Given the description of an element on the screen output the (x, y) to click on. 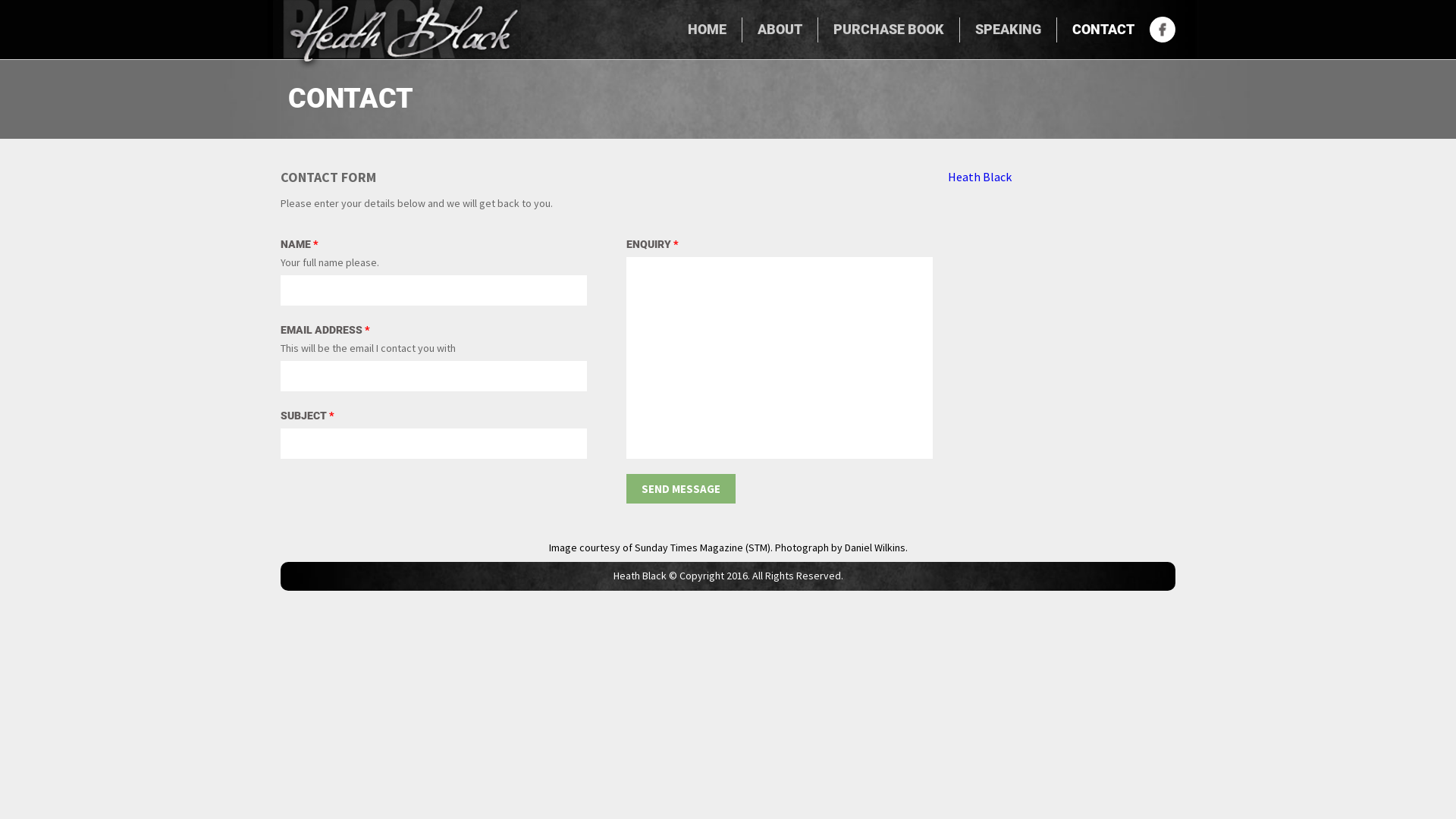
CONTACT Element type: text (1103, 29)
Send Message Element type: text (680, 487)
HOME Element type: text (706, 29)
SPEAKING Element type: text (1008, 29)
ABOUT Element type: text (779, 29)
Heath Black Element type: text (979, 176)
PURCHASE BOOK Element type: text (888, 29)
